Given the description of an element on the screen output the (x, y) to click on. 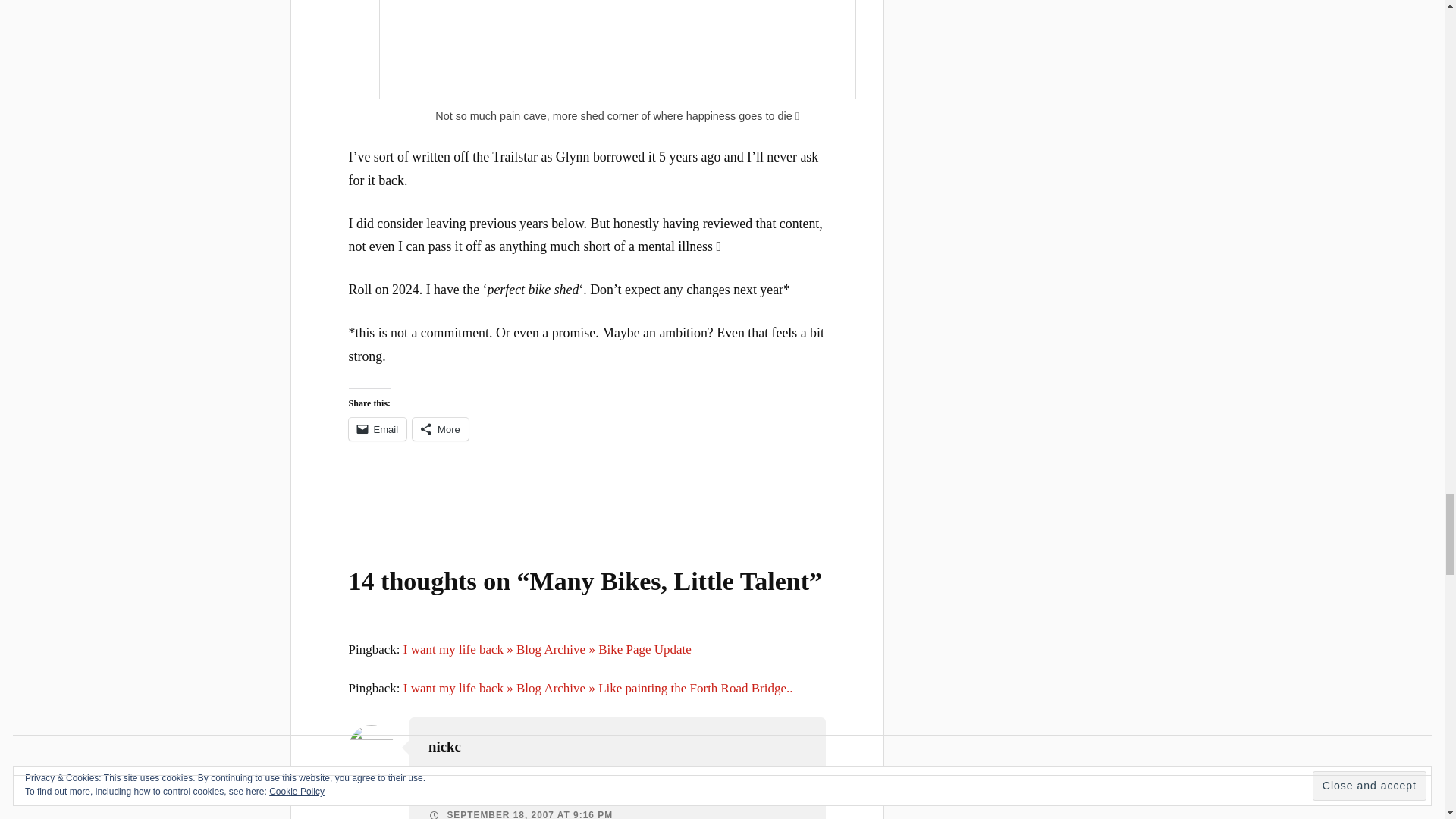
SEPTEMBER 18, 2007 AT 9:16 PM (520, 814)
Email (378, 428)
More (440, 428)
Click to email a link to a friend (378, 428)
